Given the description of an element on the screen output the (x, y) to click on. 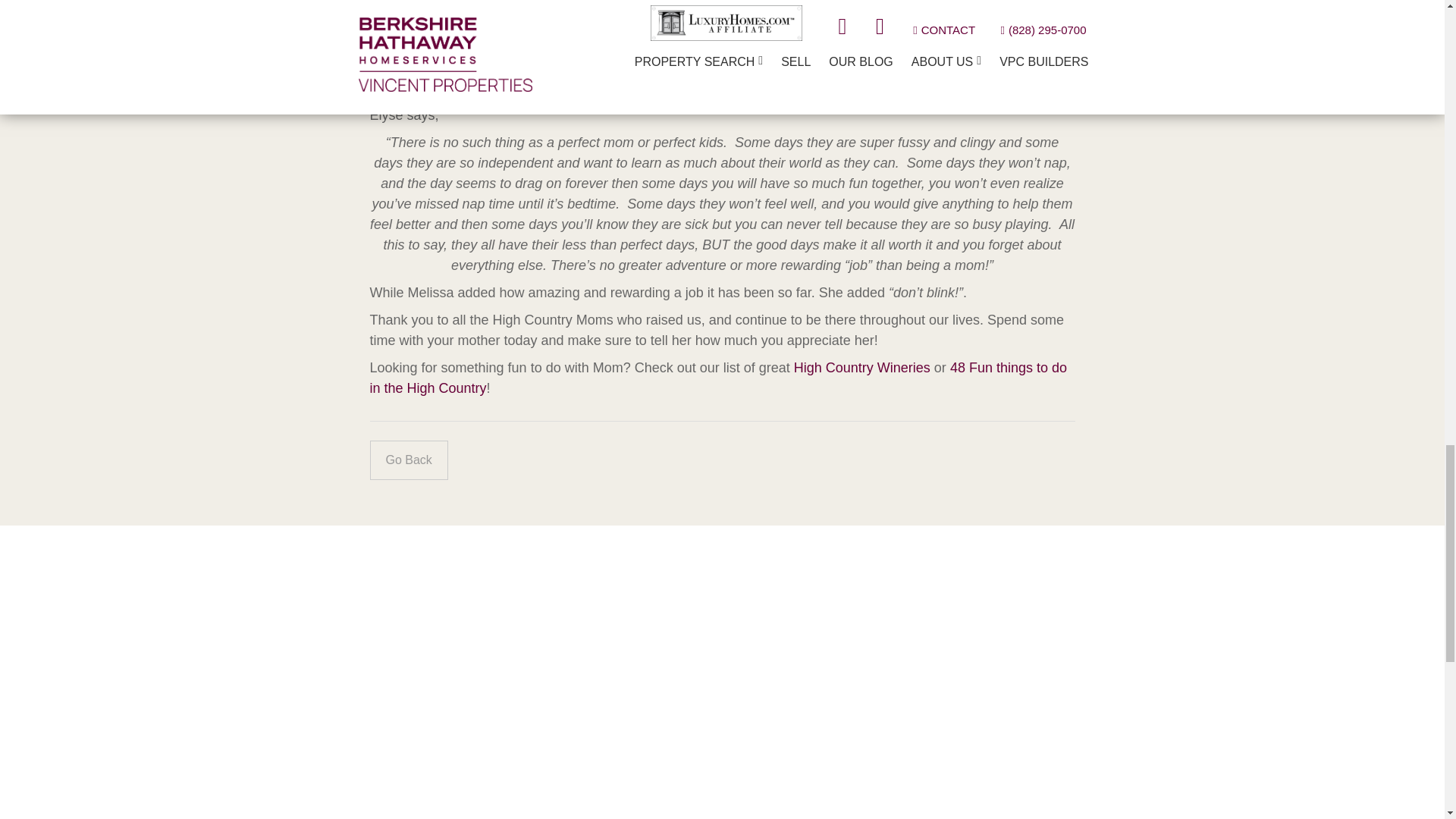
See Open Positions (721, 701)
Go Back (408, 459)
48 Fun things to do in the High Country (718, 377)
High Country Wineries (861, 367)
